Given the description of an element on the screen output the (x, y) to click on. 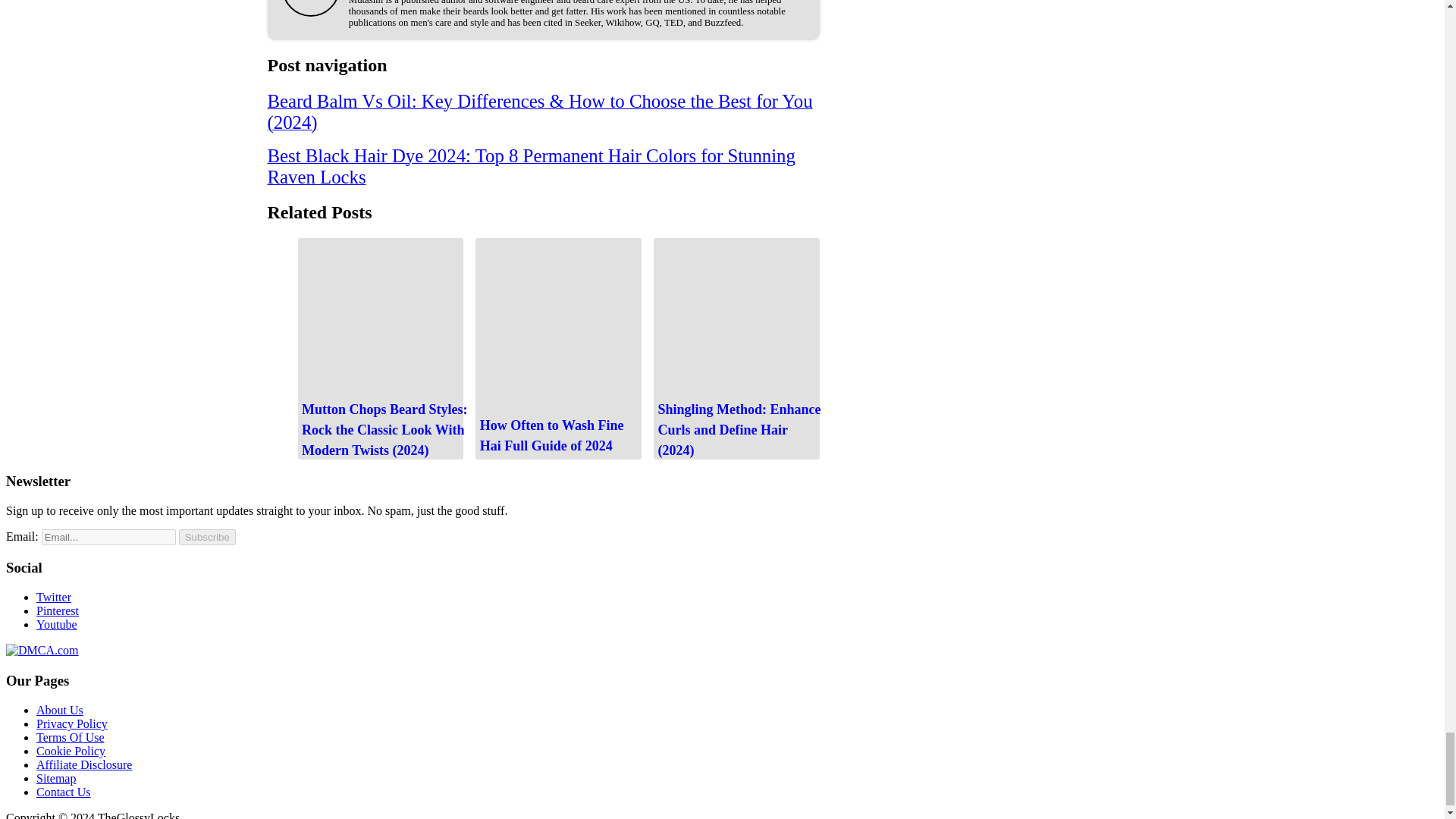
Subscribe (207, 537)
